Given the description of an element on the screen output the (x, y) to click on. 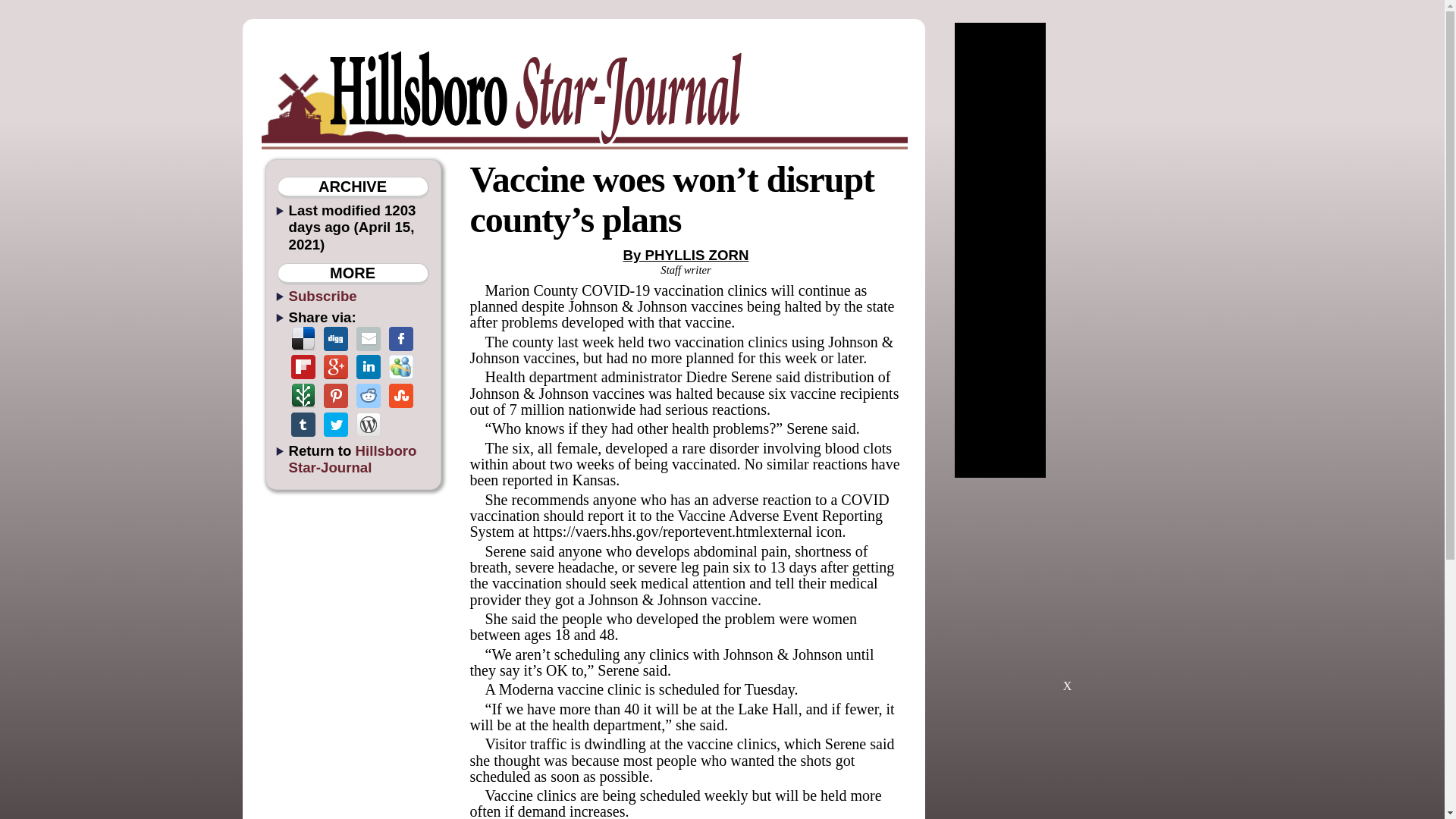
Subscribe (322, 295)
Hillsboro Star-Journal (352, 459)
